Given the description of an element on the screen output the (x, y) to click on. 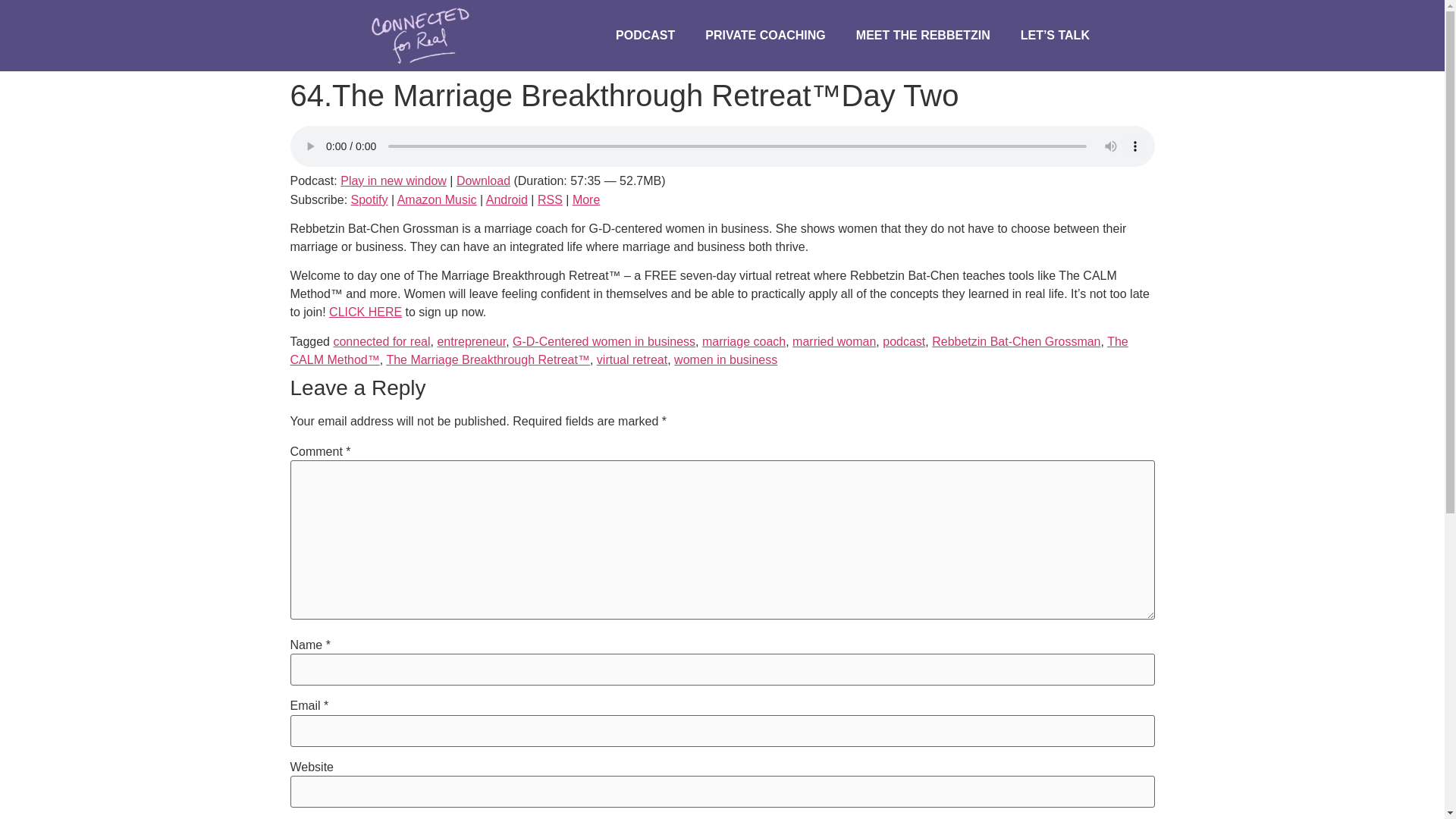
married woman (834, 341)
Rebbetzin Bat-Chen Grossman (1015, 341)
connected for real (381, 341)
Spotify (369, 199)
G-D-Centered women in business (603, 341)
Download (484, 180)
MEET THE REBBETZIN (923, 35)
podcast (903, 341)
More (585, 199)
PODCAST (644, 35)
marriage coach (743, 341)
women in business (725, 359)
PRIVATE COACHING (765, 35)
Subscribe via RSS (549, 199)
Subscribe on Amazon Music (437, 199)
